Given the description of an element on the screen output the (x, y) to click on. 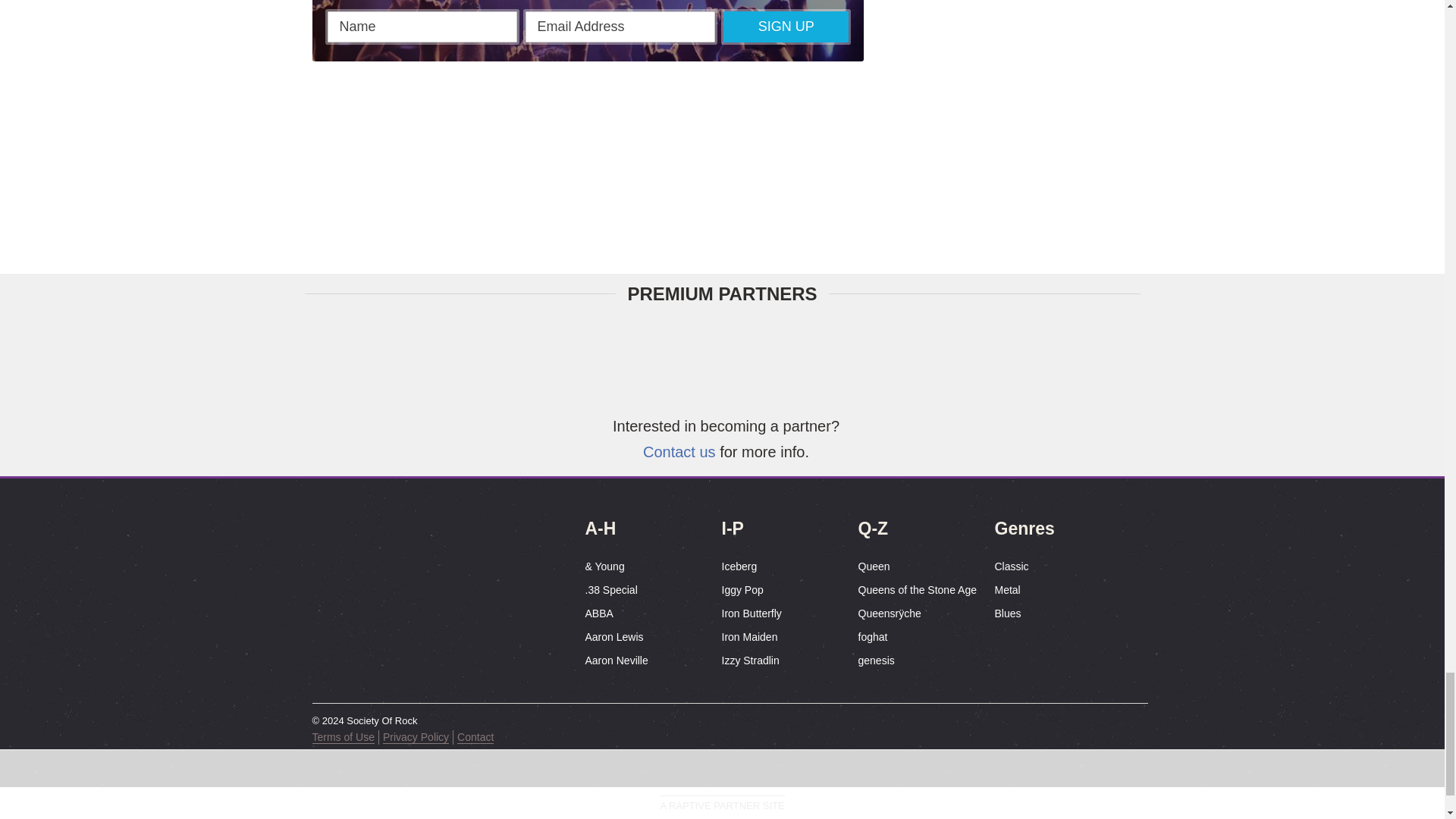
Sign Up (785, 26)
